Given the description of an element on the screen output the (x, y) to click on. 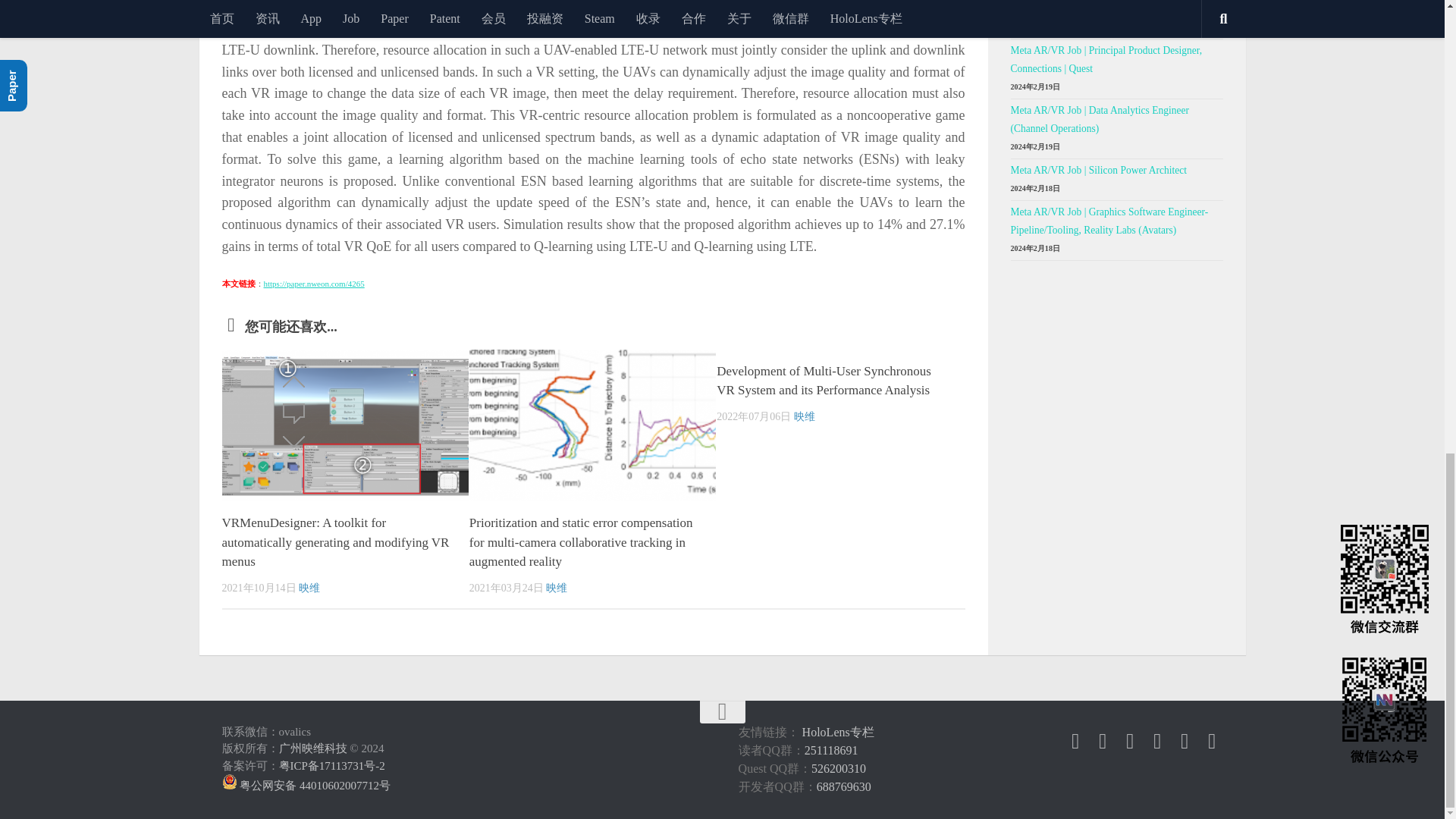
Twitter (1102, 741)
